Given the description of an element on the screen output the (x, y) to click on. 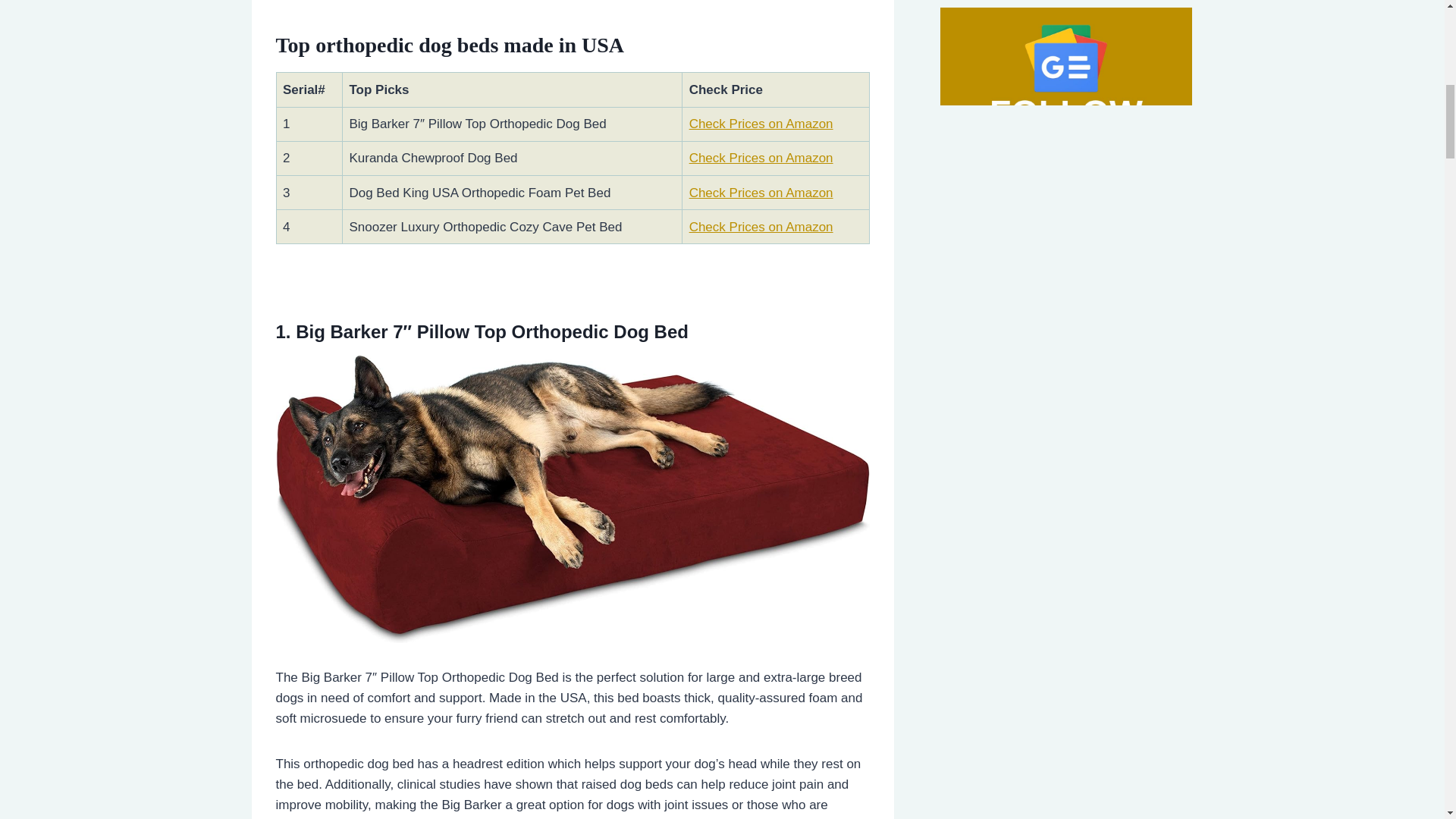
Check Prices on Amazon (760, 227)
Check Prices on Amazon (760, 157)
Check Prices on Amazon (760, 192)
Check Prices on Amazon (760, 124)
